Given the description of an element on the screen output the (x, y) to click on. 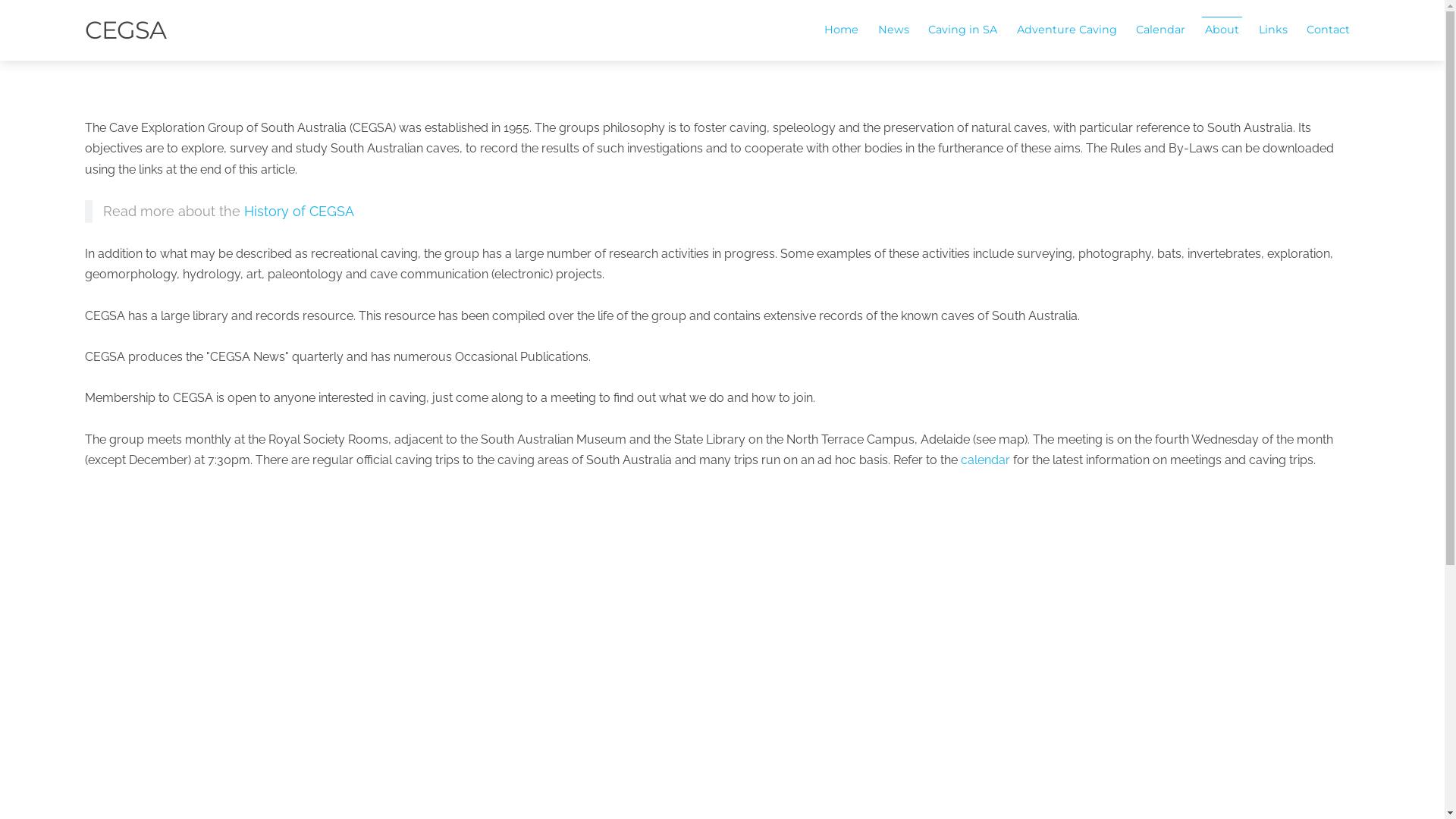
Links Element type: text (1272, 29)
Home Element type: text (841, 29)
History of CEGSA Element type: text (299, 211)
About Element type: text (1221, 29)
Calendar Element type: text (1160, 29)
calendar Element type: text (985, 459)
Contact Element type: text (1327, 29)
News Element type: text (893, 29)
Adventure Caving Element type: text (1066, 29)
CEGSA Element type: text (125, 29)
Caving in SA Element type: text (962, 29)
